Given the description of an element on the screen output the (x, y) to click on. 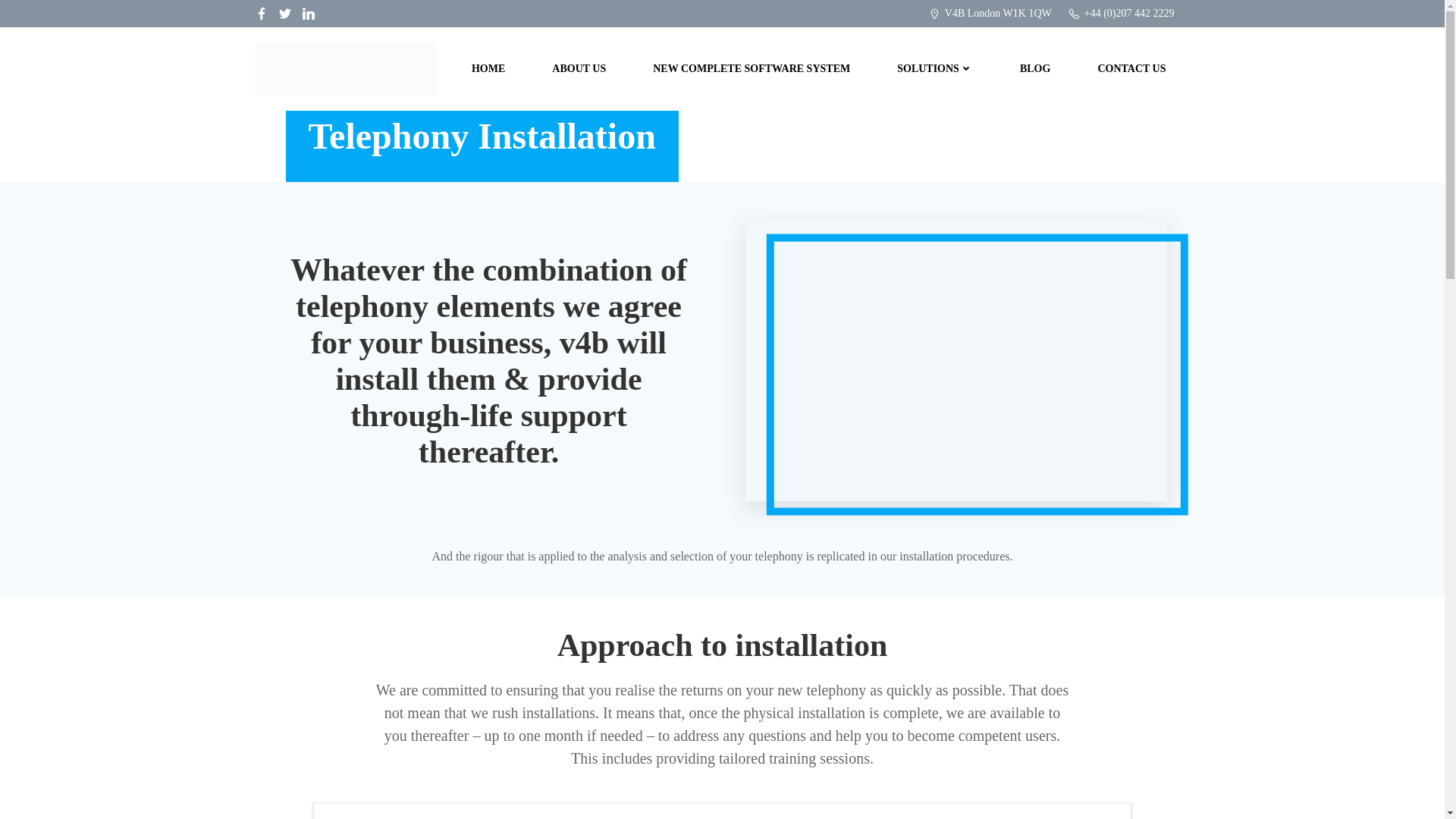
BLOG (1034, 68)
HOME (488, 68)
V4B London W1K 1QW (989, 13)
NEW COMPLETE SOFTWARE SYSTEM (751, 68)
CONTACT US (1131, 68)
ABOUT US (578, 68)
SOLUTIONS (934, 68)
